Given the description of an element on the screen output the (x, y) to click on. 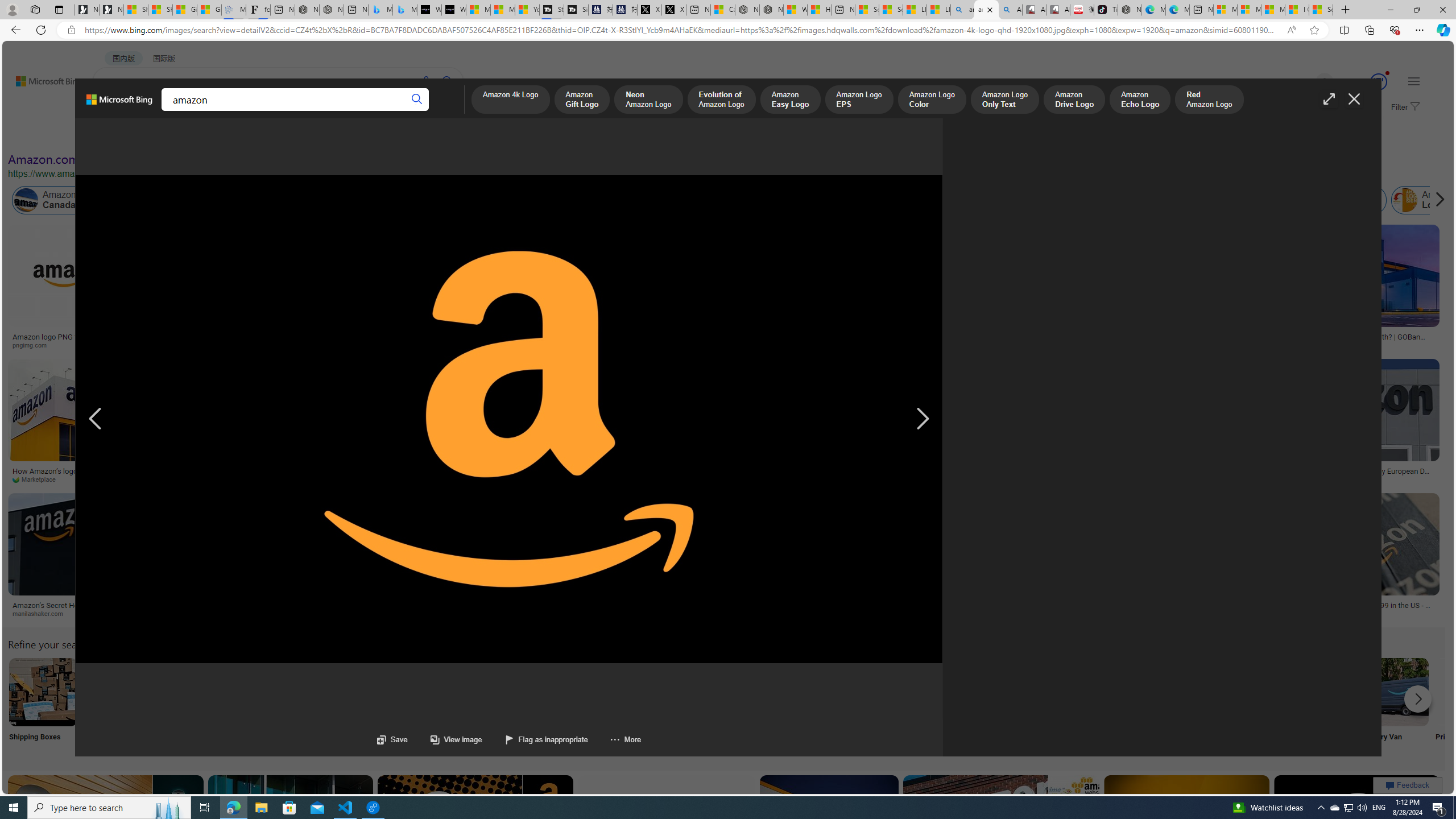
Color (173, 135)
Scroll more suggestions right (1418, 698)
Amazon Visa Card Login Visa Card Login (1093, 706)
Amazon Online Shopping Homepage (868, 691)
Amazon Sale Items Sale Items (1169, 706)
Amazon Prime Membership (753, 200)
IMAGES (156, 112)
Listen: What's next for Amazon? (338, 336)
Mini TV (794, 706)
Amazon India (508, 199)
